Given the description of an element on the screen output the (x, y) to click on. 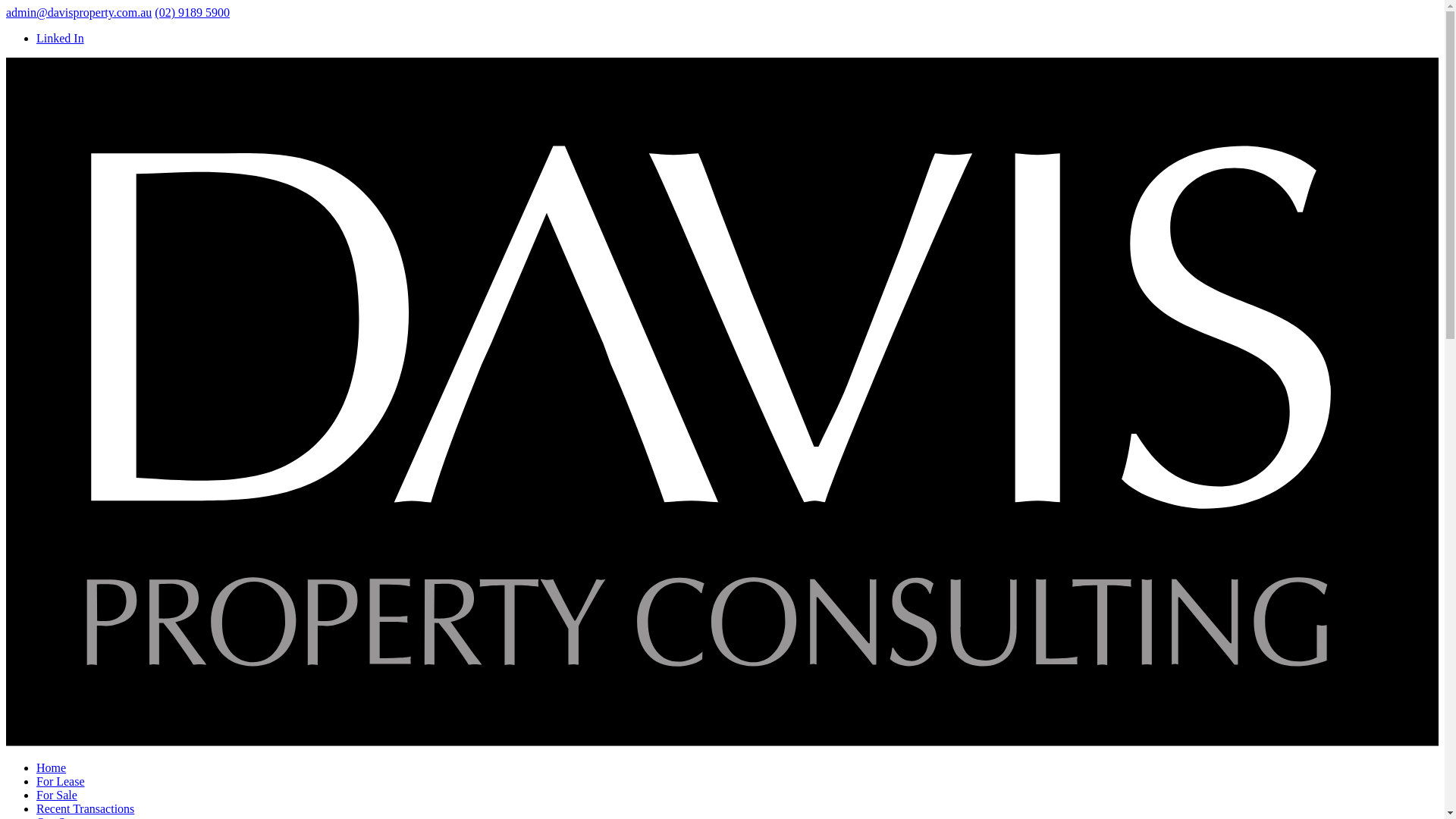
For Lease Element type: text (60, 781)
admin@davisproperty.com.au Element type: text (78, 12)
Linked In Element type: text (60, 37)
For Sale Element type: text (56, 794)
Recent Transactions Element type: text (85, 808)
Home Element type: text (50, 767)
(02) 9189 5900 Element type: text (191, 12)
